Given the description of an element on the screen output the (x, y) to click on. 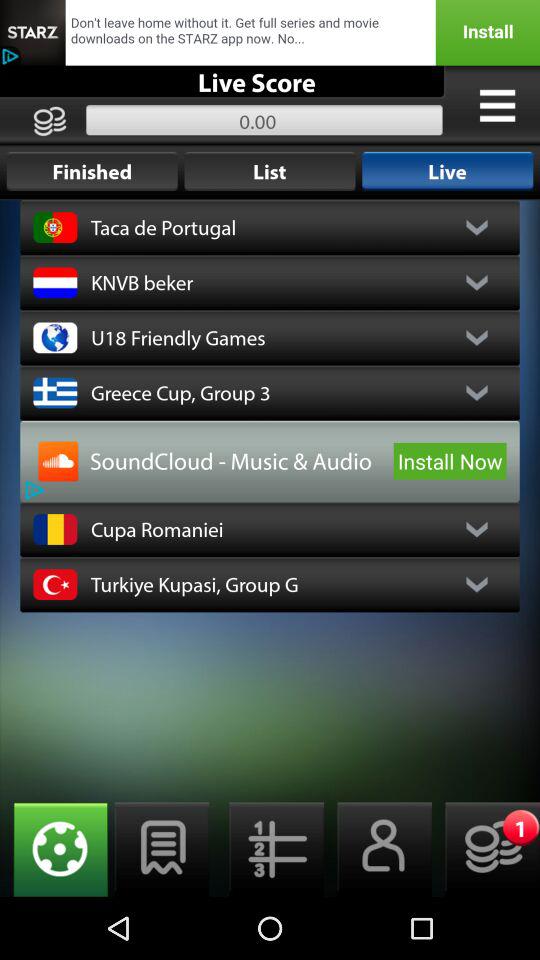
see own profile (378, 849)
